Given the description of an element on the screen output the (x, y) to click on. 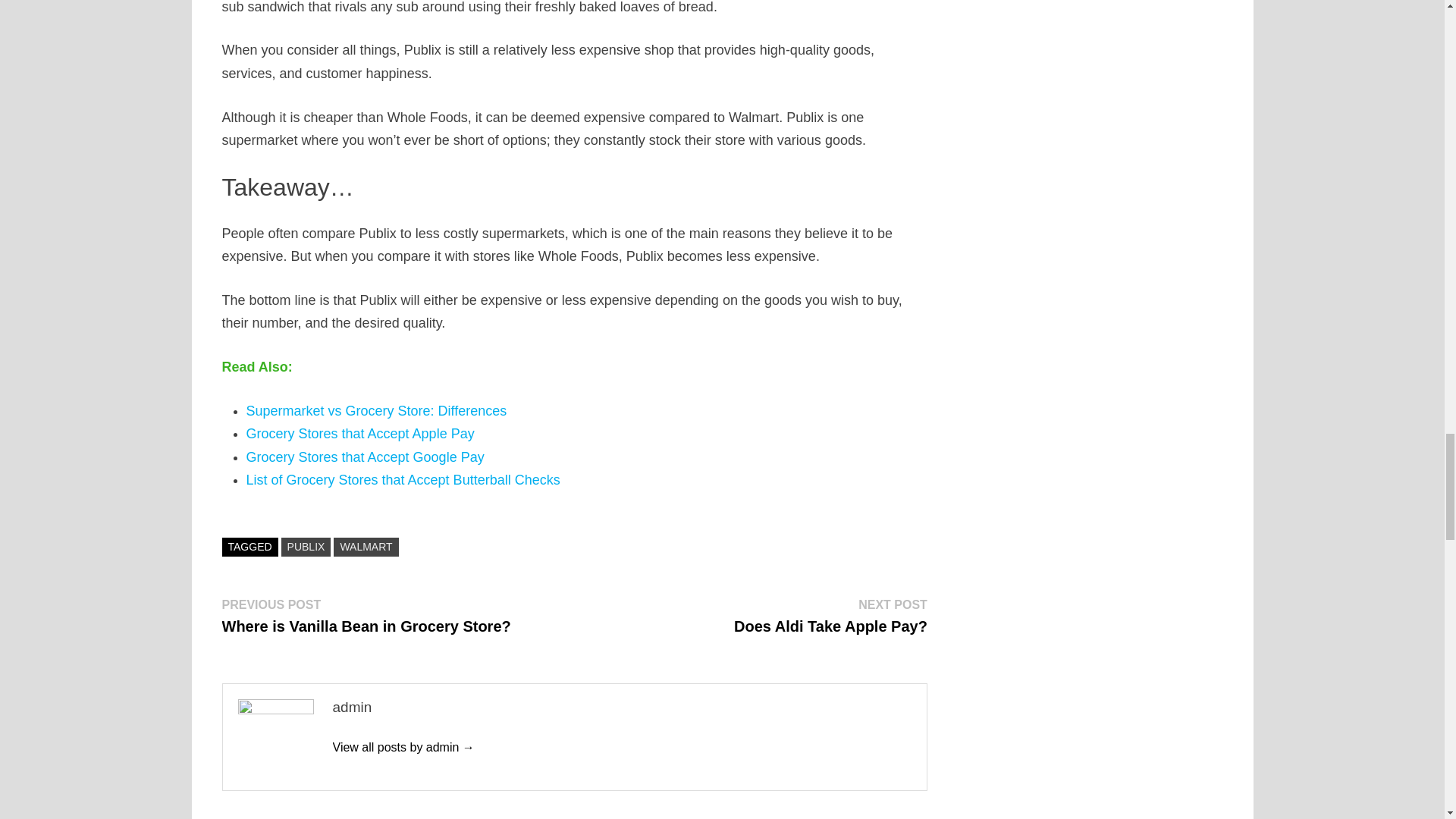
Grocery Stores that Accept Google Pay (364, 457)
Grocery Stores that Accept Apple Pay (360, 433)
WALMART (365, 546)
Supermarket vs Grocery Store: Differences (376, 410)
PUBLIX (830, 615)
List of Grocery Stores that Accept Butterball Checks (306, 546)
